Given the description of an element on the screen output the (x, y) to click on. 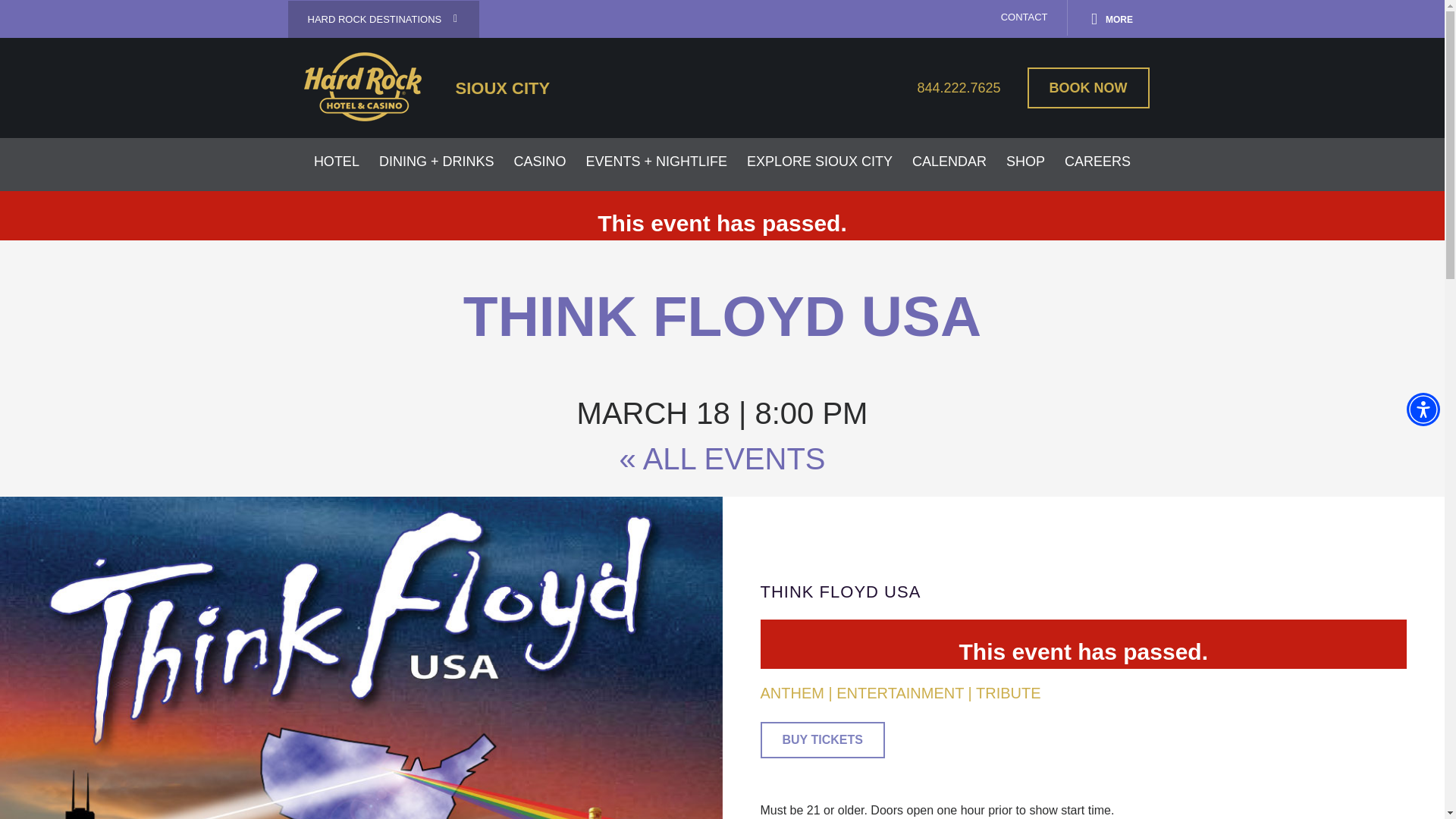
CONTACT (1023, 16)
MORE (1112, 17)
Accessibility Menu (1422, 409)
HARD ROCK DESTINATIONS (384, 18)
